Given the description of an element on the screen output the (x, y) to click on. 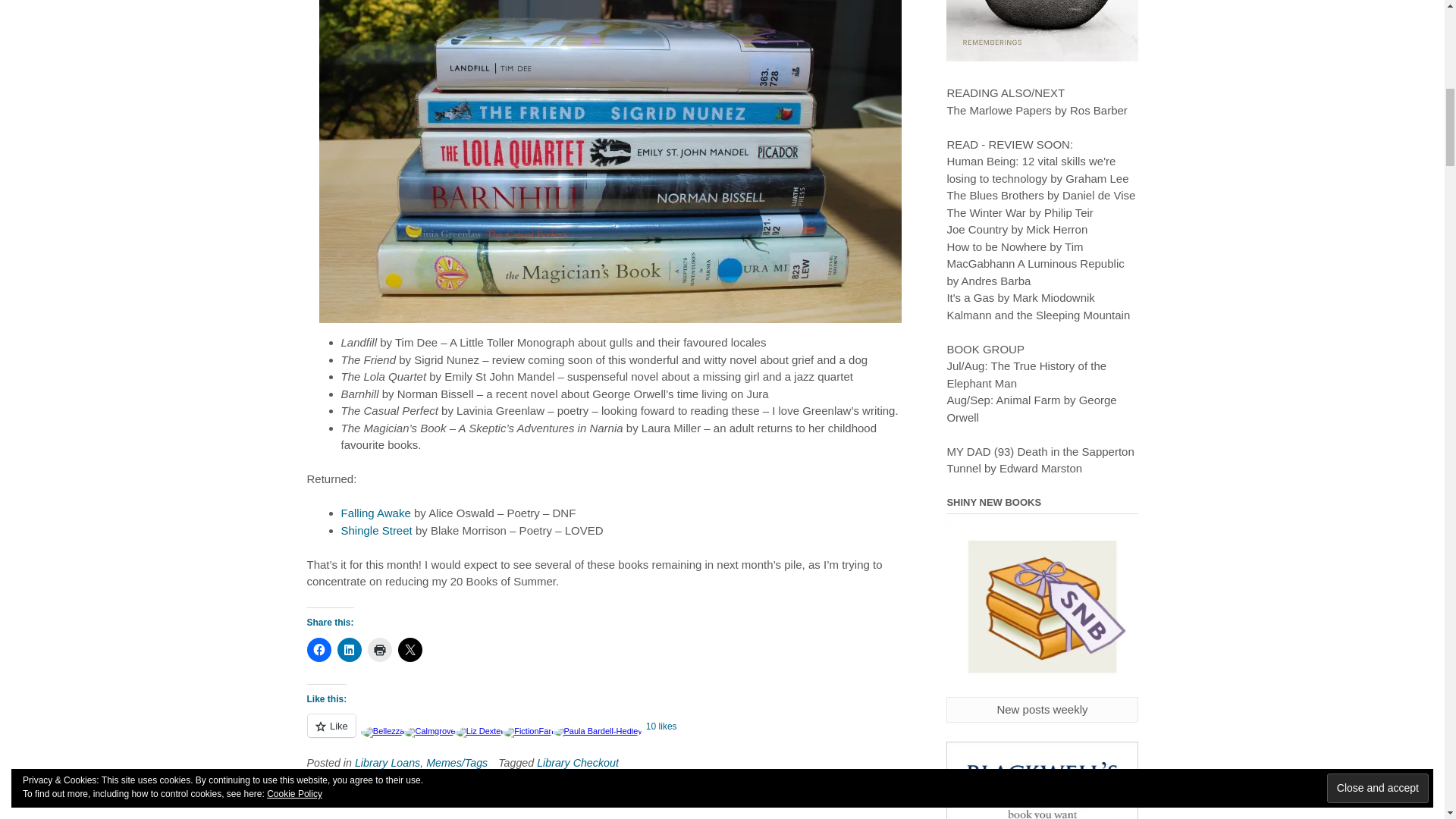
Shingle Street (376, 530)
Like or Reblog (608, 734)
Click to share on X (409, 649)
Click to share on Facebook (317, 649)
www.blackwells.co.uk (1041, 780)
Library Checkout (577, 762)
Click to share on LinkedIn (348, 649)
Click to print (378, 649)
SHINY NEW BOOKS (1041, 608)
Library Loans (387, 762)
Falling Awake (375, 512)
